Given the description of an element on the screen output the (x, y) to click on. 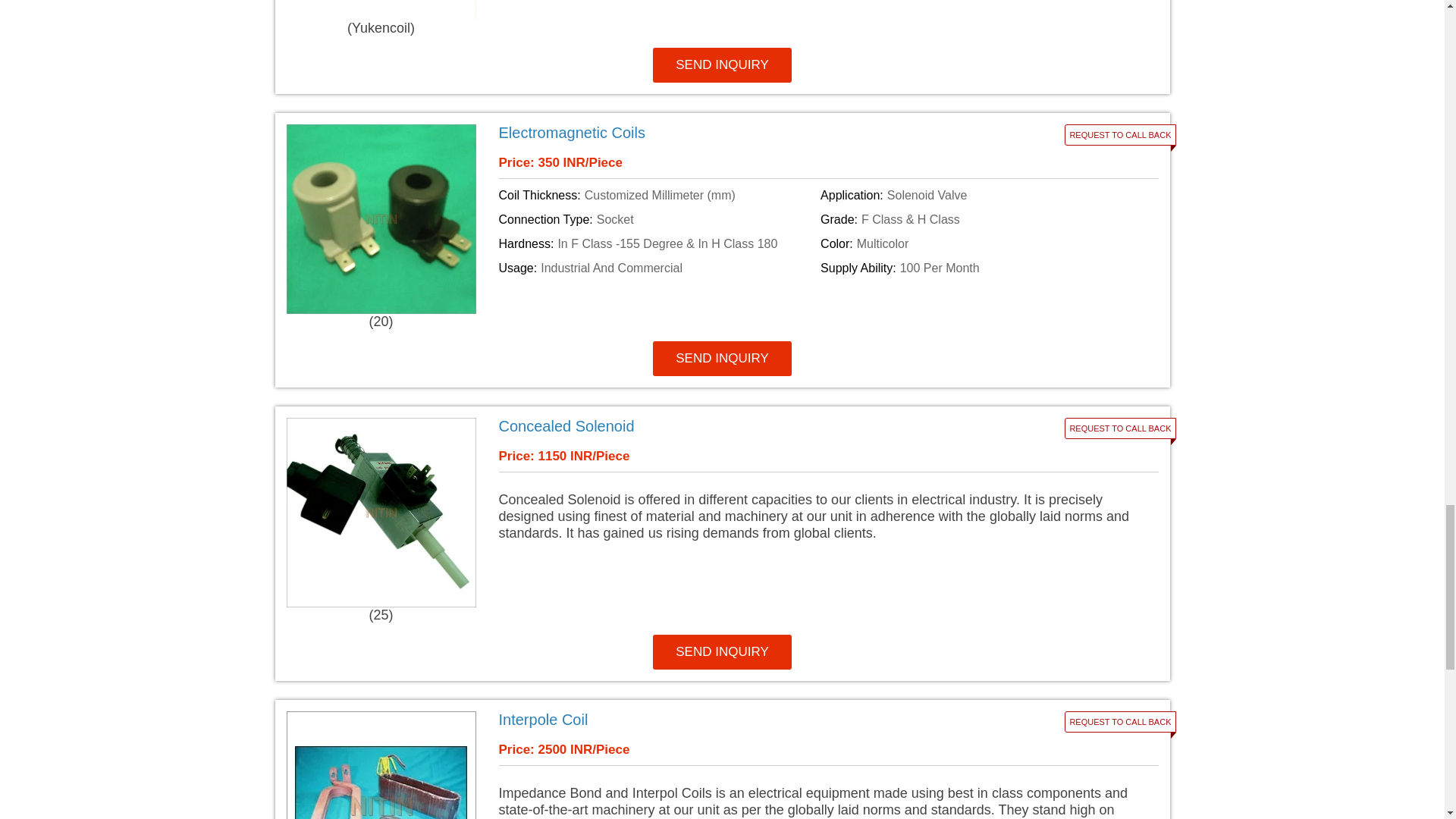
Connection Type: Socket (657, 219)
Application: Solenoid Valve (979, 195)
Electromagnetic Coils (716, 132)
